Given the description of an element on the screen output the (x, y) to click on. 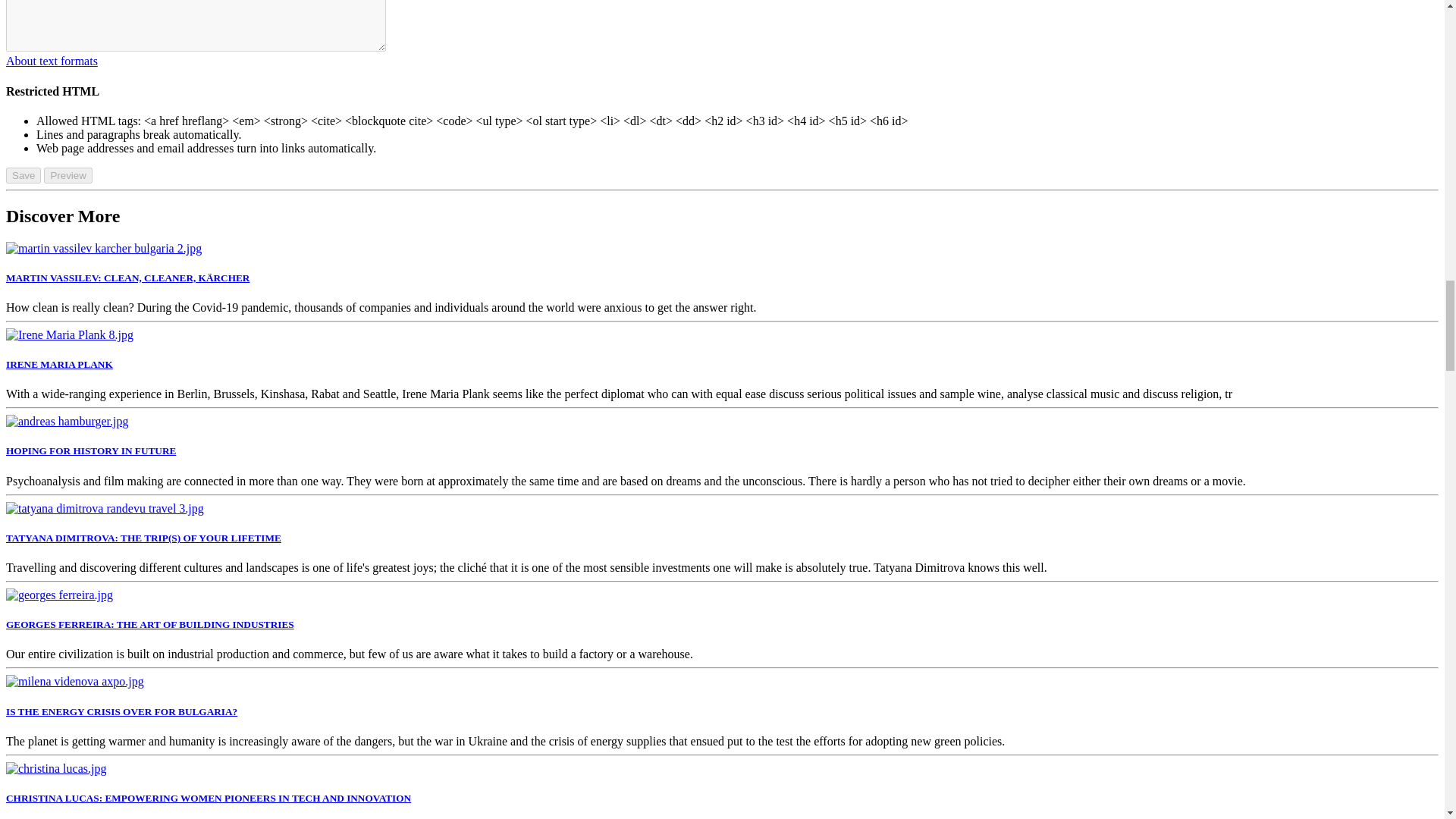
Preview (67, 175)
Save (22, 175)
